Given the description of an element on the screen output the (x, y) to click on. 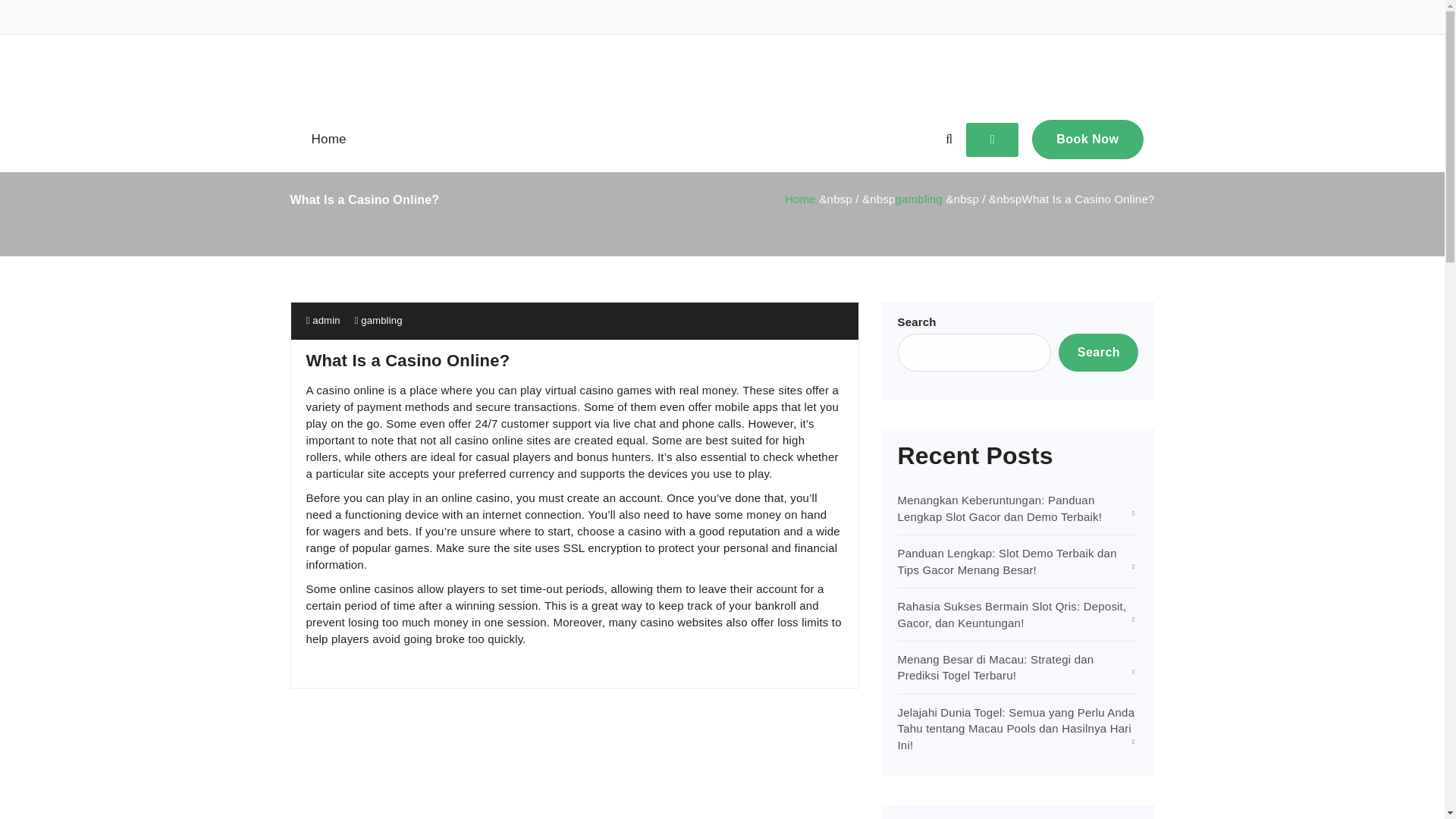
Search (1098, 352)
Home (327, 139)
Home (799, 198)
Book Now (1087, 138)
Menang Besar di Macau: Strategi dan Prediksi Togel Terbaru! (996, 666)
gambling (381, 319)
